Given the description of an element on the screen output the (x, y) to click on. 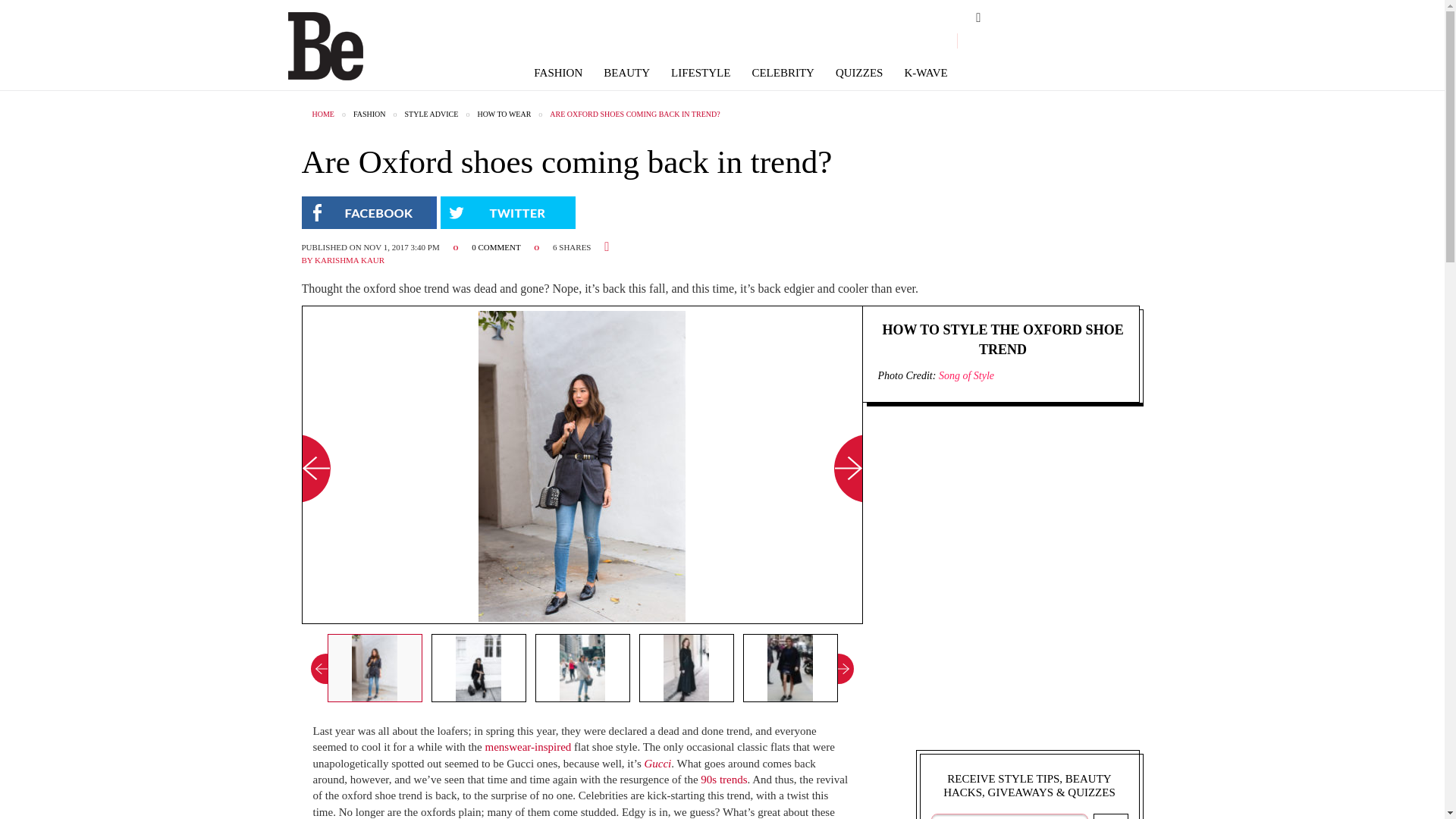
tw (1007, 42)
FASHION (558, 72)
cam (1033, 41)
LIFESTYLE (700, 72)
0 COMMENT (496, 246)
youtube (1088, 42)
pint (1058, 42)
fb (978, 42)
OK (1109, 816)
